Given the description of an element on the screen output the (x, y) to click on. 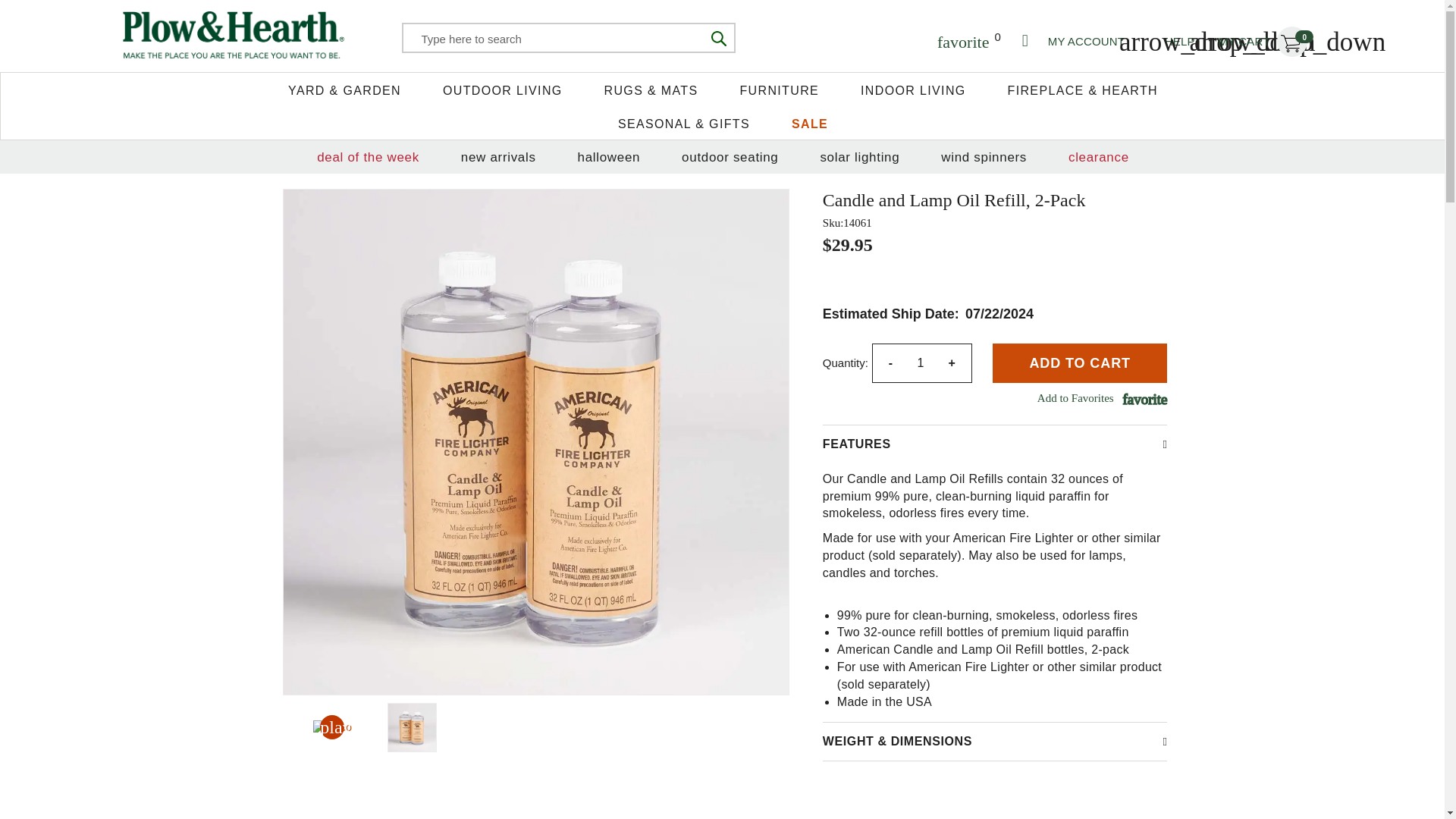
1 (1262, 41)
